Given the description of an element on the screen output the (x, y) to click on. 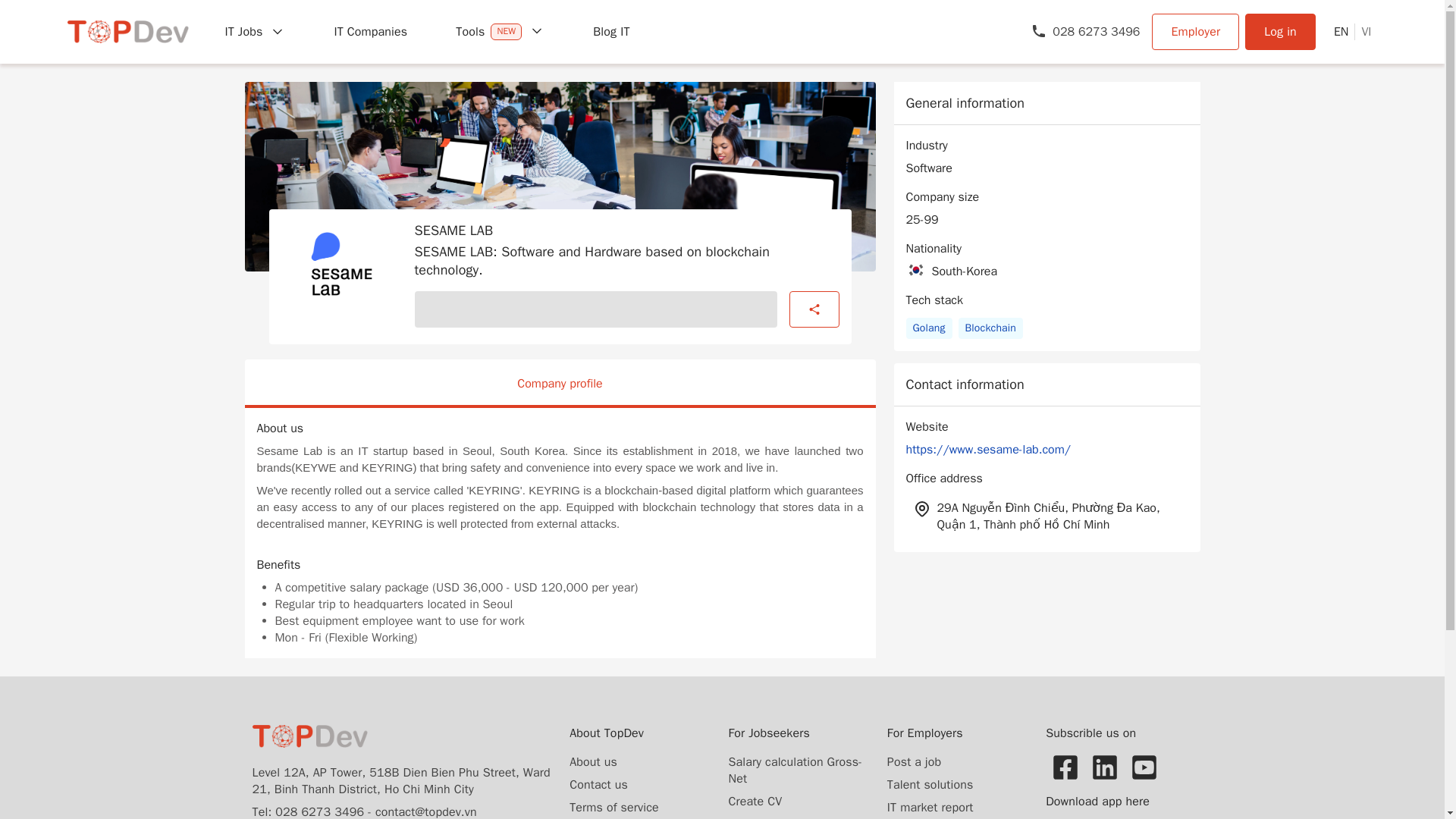
IT Jobs (254, 31)
IT jobs (254, 31)
